Given the description of an element on the screen output the (x, y) to click on. 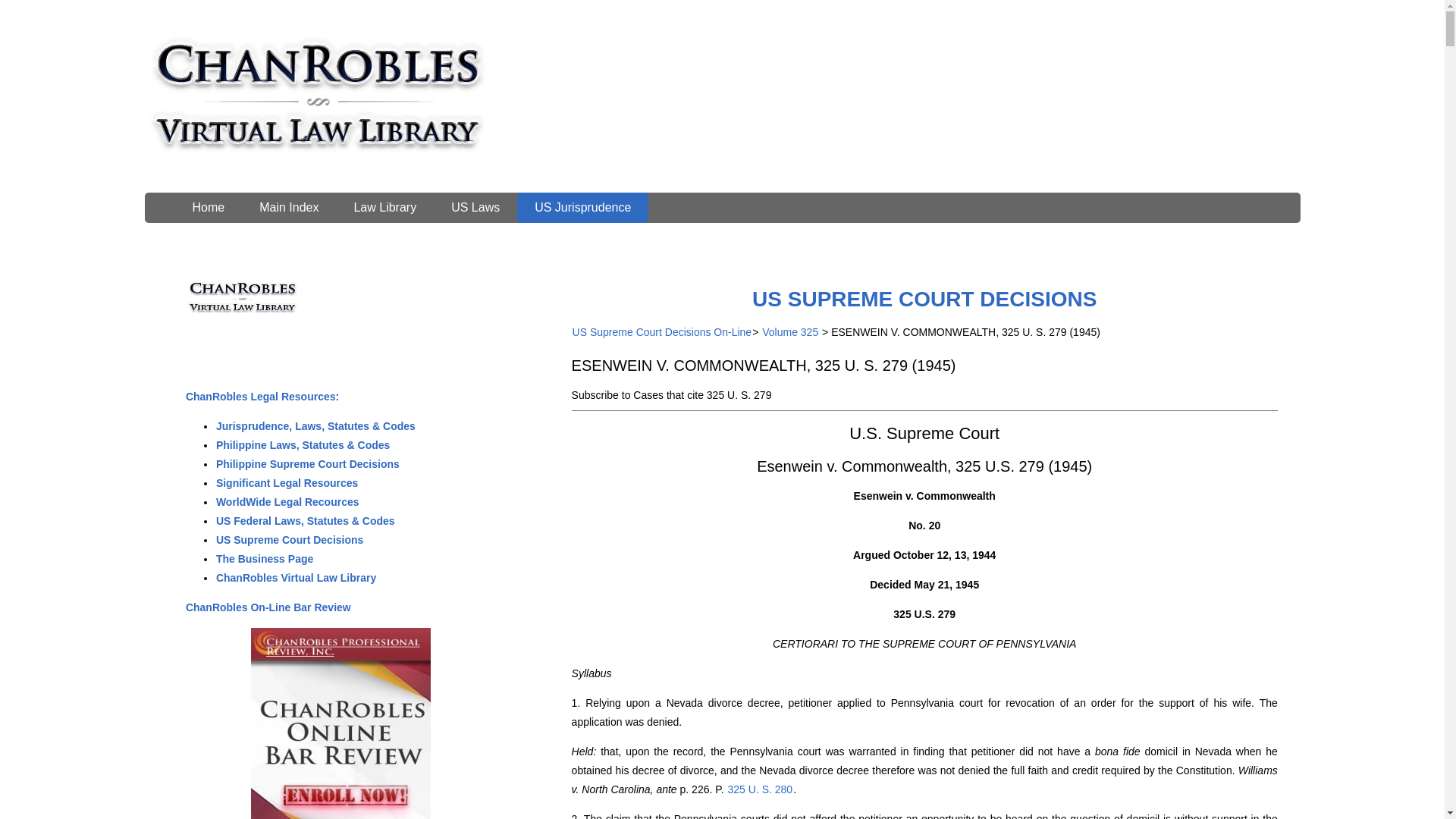
ChanRobles Legal Resources: (261, 396)
US SUPREME COURT DECISIONS (924, 299)
US Jurisprudence (581, 207)
Philippine Supreme Court Decisions (307, 463)
Main Index (288, 207)
ChanRobles On-Line Bar Review (268, 607)
Volume 325 (789, 331)
WorldWide Legal Recources (287, 501)
United States Supreme Court Decisions - On-Line (924, 299)
ChanRobles Virtual Law Library (296, 577)
Significant Legal Resources (287, 482)
Home (207, 207)
The Business Page (264, 558)
US Supreme Court Decisions (290, 539)
325 U. S. 280 (759, 788)
